Given the description of an element on the screen output the (x, y) to click on. 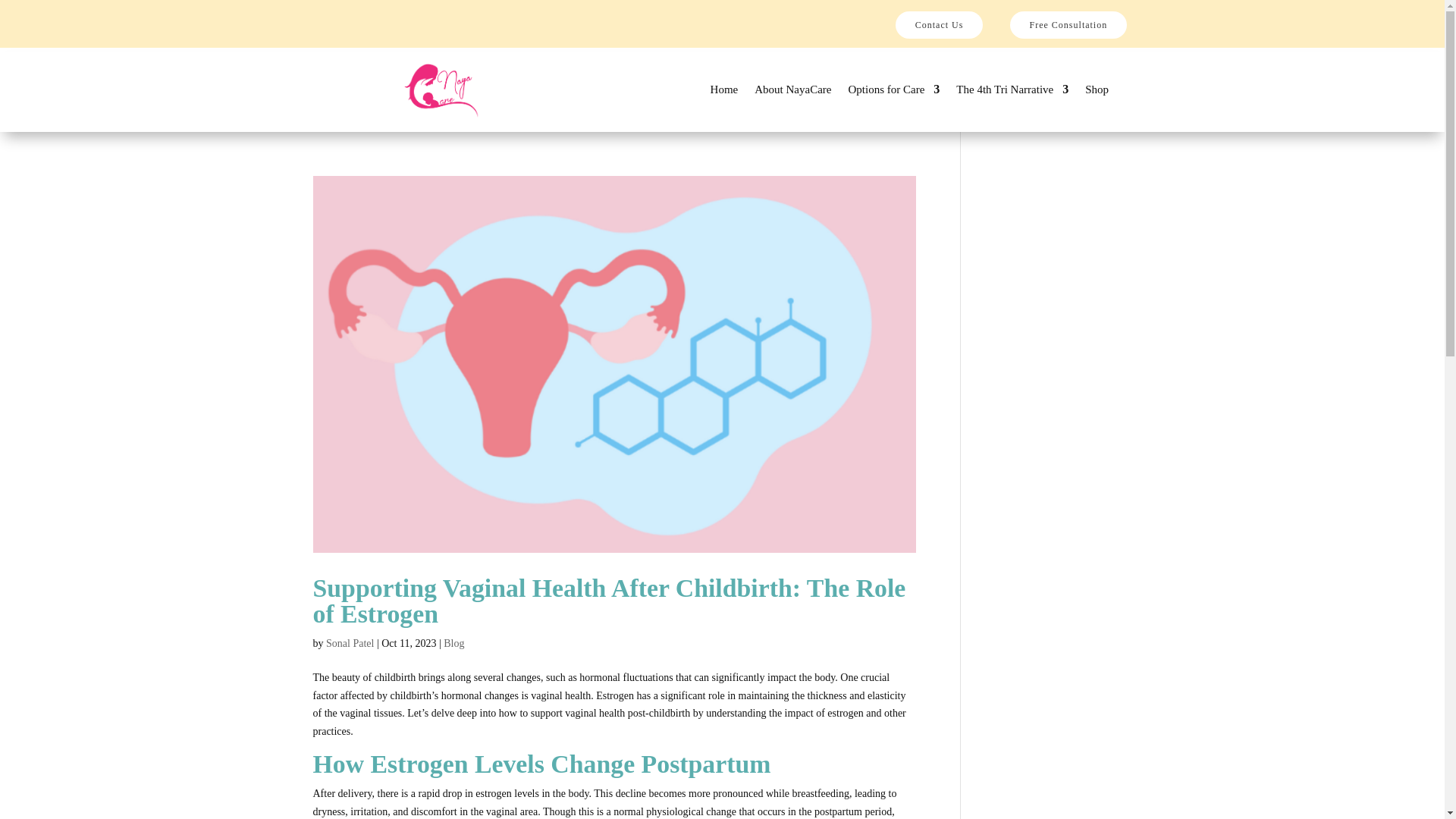
Shop (1096, 92)
Posts by Sonal Patel (350, 643)
Free Consultation (1068, 24)
Blog (454, 643)
Home (724, 92)
About NayaCare (792, 92)
The 4th Tri Narrative (1012, 92)
Options for Care (893, 92)
Sonal Patel (350, 643)
Contact Us (939, 24)
